Given the description of an element on the screen output the (x, y) to click on. 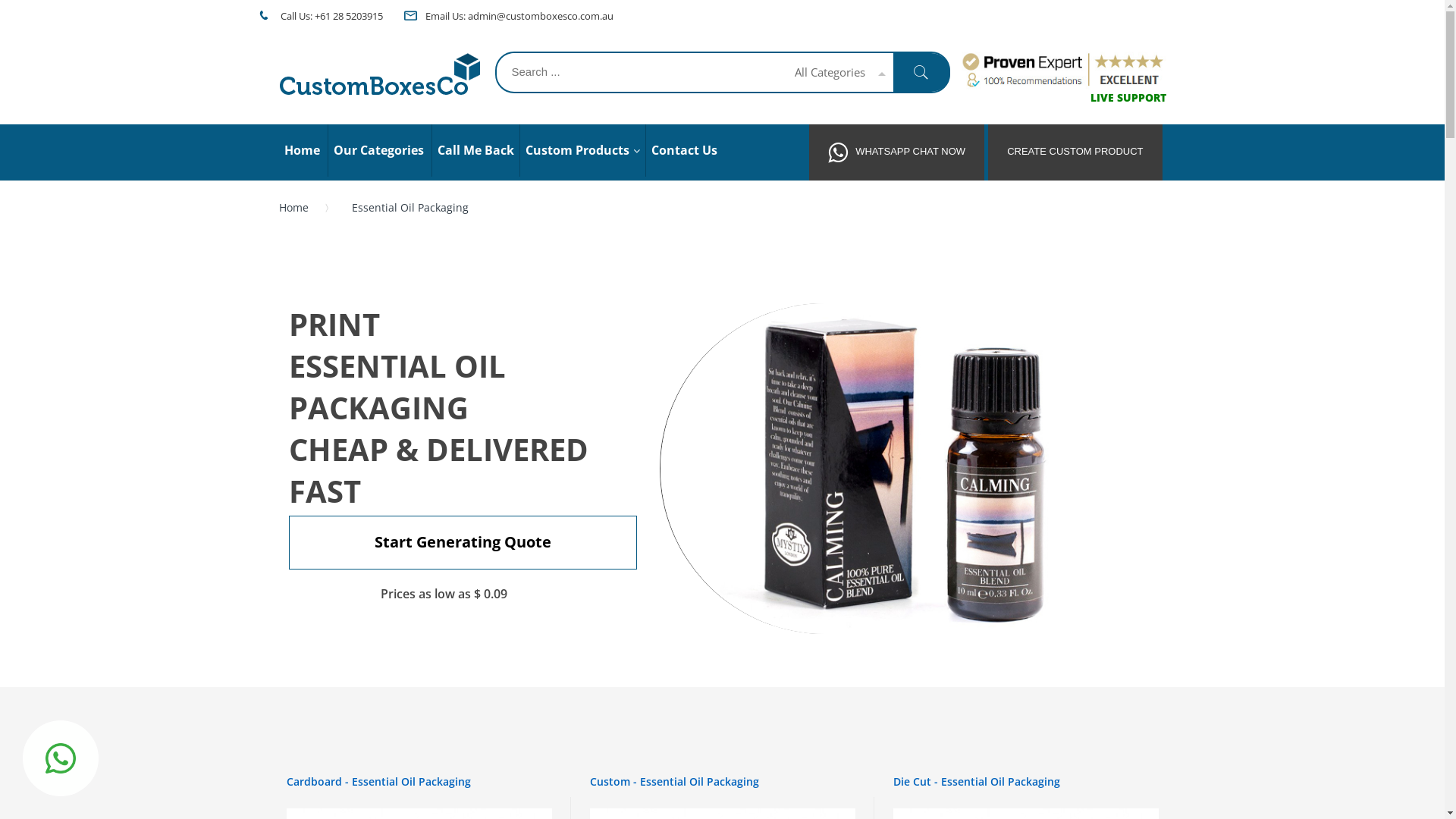
Home Element type: text (302, 150)
Call Me Back Element type: text (474, 150)
WHATSAPP CHAT NOW Element type: text (896, 152)
Search Element type: hover (921, 72)
All Categories Element type: text (833, 72)
Cardboard - Essential Oil Packaging Element type: text (378, 781)
Call Us: +61 28 5203915 Element type: text (329, 15)
Custom Products Element type: text (581, 150)
LIVE SUPPORT Element type: text (1128, 97)
Home Element type: text (298, 207)
Our Categories Element type: text (378, 150)
Essential Oil Packaging Element type: hover (907, 468)
Contact Us Element type: text (682, 150)
Email Us: admin@customboxesco.com.au Element type: text (518, 15)
CREATE CUSTOM PRODUCT Element type: text (1074, 152)
Start Generating Quote Element type: text (462, 542)
Custom - Essential Oil Packaging Element type: text (674, 781)
Custom Boxes Co Element type: hover (381, 73)
Die Cut - Essential Oil Packaging Element type: text (976, 781)
